Given the description of an element on the screen output the (x, y) to click on. 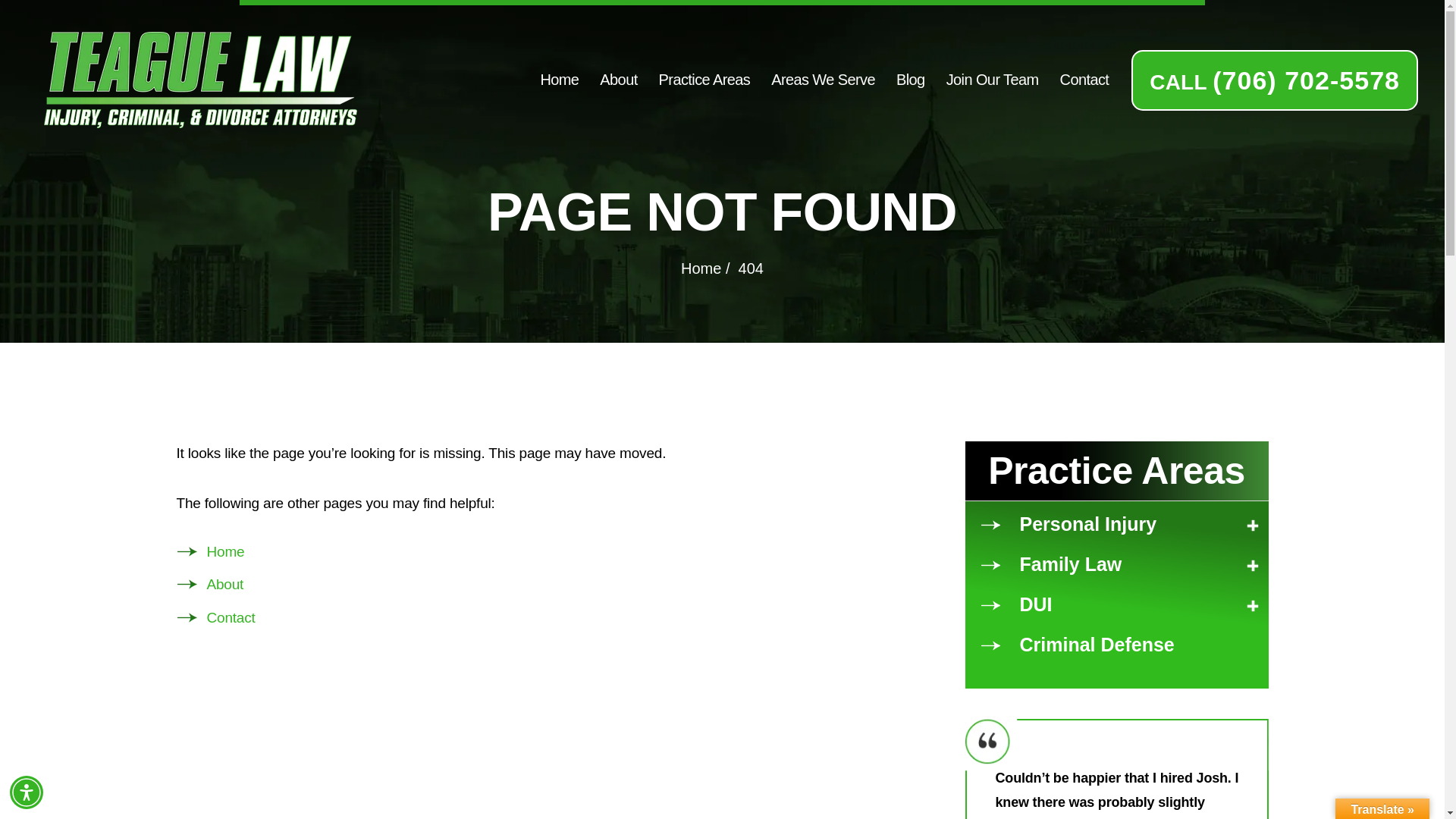
Areas We Serve (823, 79)
Practice Areas (705, 79)
Blog (910, 79)
Join Our Team (992, 79)
Home (559, 79)
Accessibility Menu (26, 792)
About (618, 79)
